Given the description of an element on the screen output the (x, y) to click on. 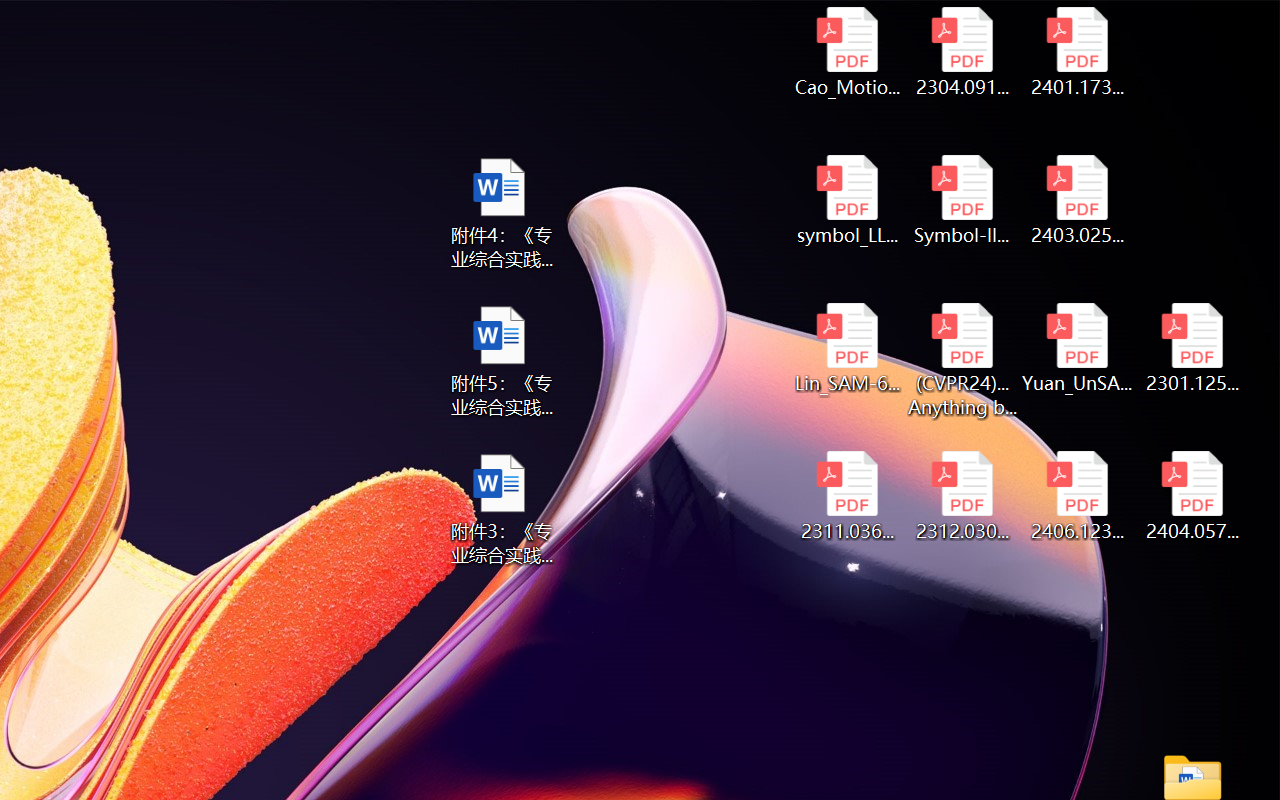
2301.12597v3.pdf (1192, 348)
2401.17399v1.pdf (1077, 52)
2404.05719v1.pdf (1192, 496)
2304.09121v3.pdf (962, 52)
2311.03658v2.pdf (846, 496)
2312.03032v2.pdf (962, 496)
2406.12373v2.pdf (1077, 496)
symbol_LLM.pdf (846, 200)
(CVPR24)Matching Anything by Segmenting Anything.pdf (962, 360)
Symbol-llm-v2.pdf (962, 200)
